Given the description of an element on the screen output the (x, y) to click on. 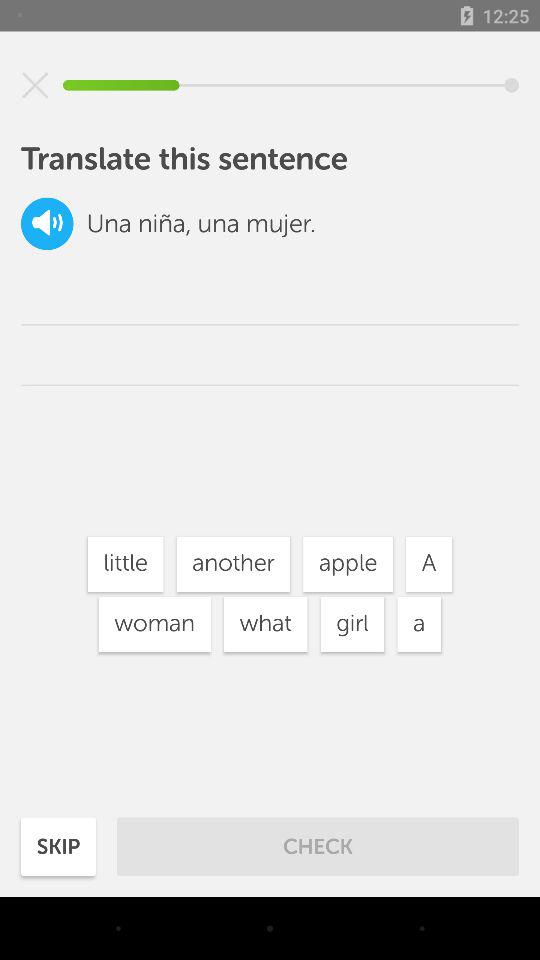
launch the item below the apple item (352, 624)
